Given the description of an element on the screen output the (x, y) to click on. 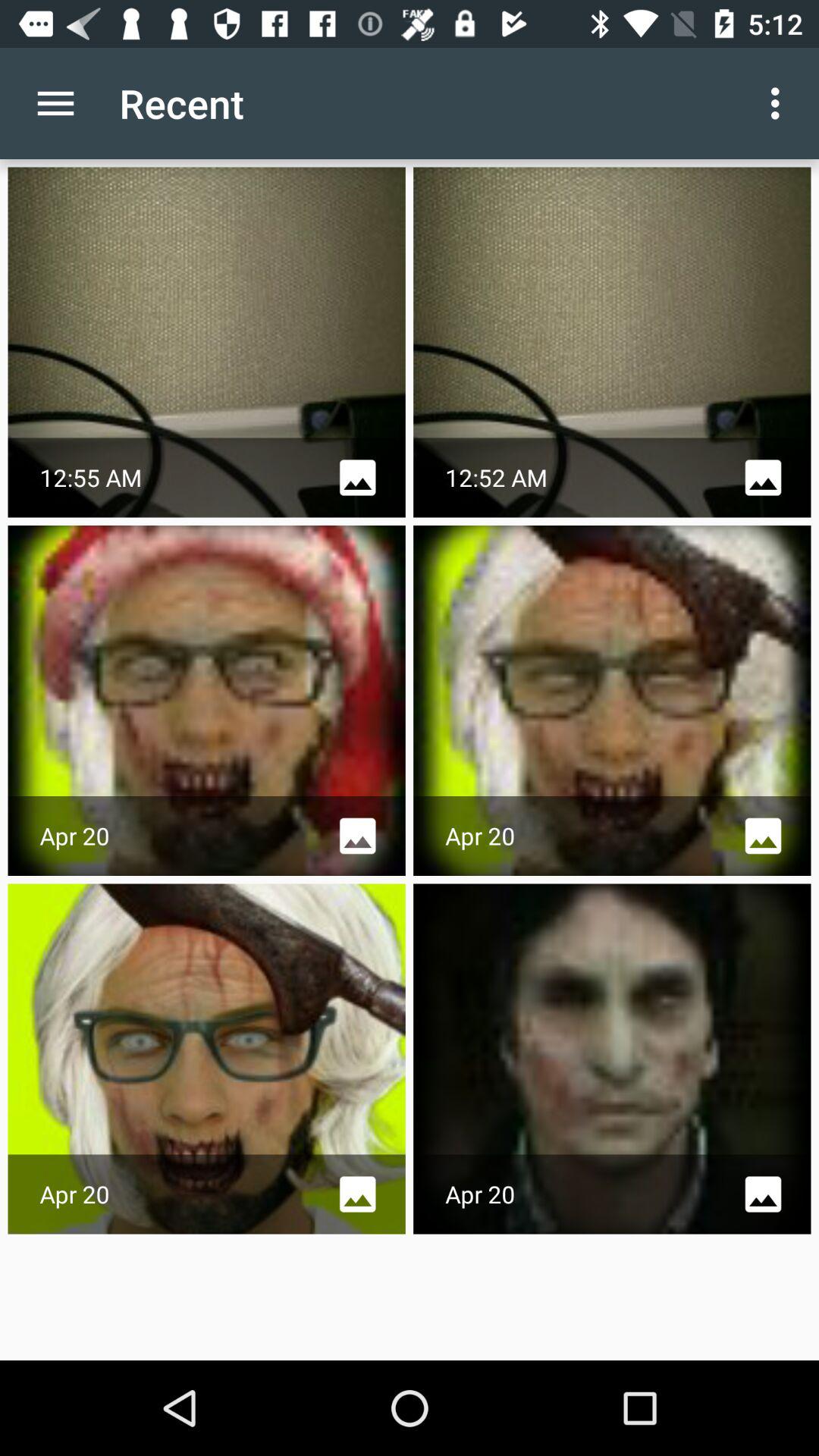
open the app to the right of recent app (779, 103)
